Given the description of an element on the screen output the (x, y) to click on. 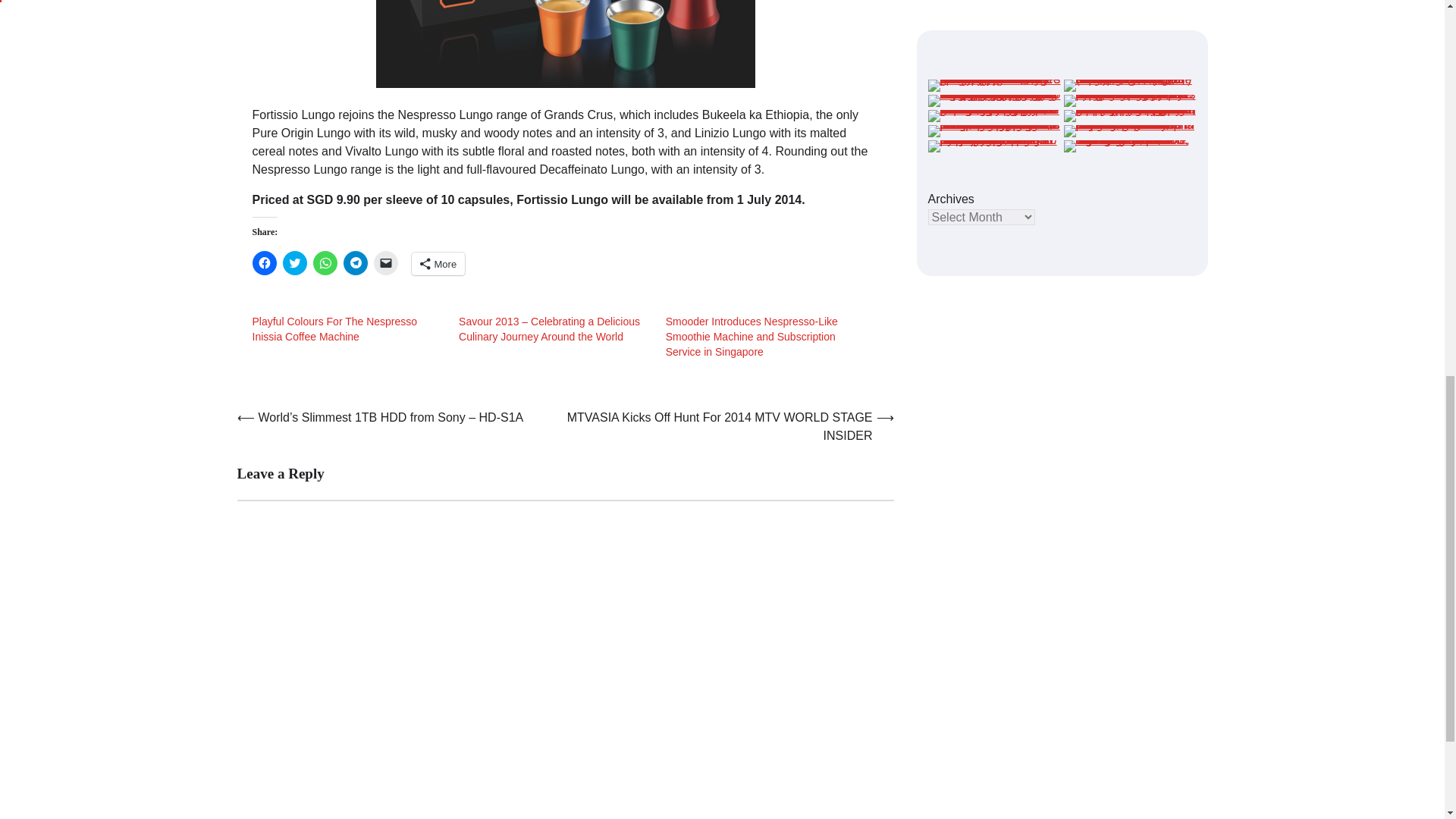
Click to email a link to a friend (384, 262)
Click to share on Telegram (354, 262)
More (437, 263)
Playful Colours For The Nespresso Inissia Coffee Machine (333, 329)
Click to share on WhatsApp (324, 262)
Playful Colours For The Nespresso Inissia Coffee Machine (333, 329)
Click to share on Twitter (293, 262)
Click to share on Facebook (263, 262)
